Given the description of an element on the screen output the (x, y) to click on. 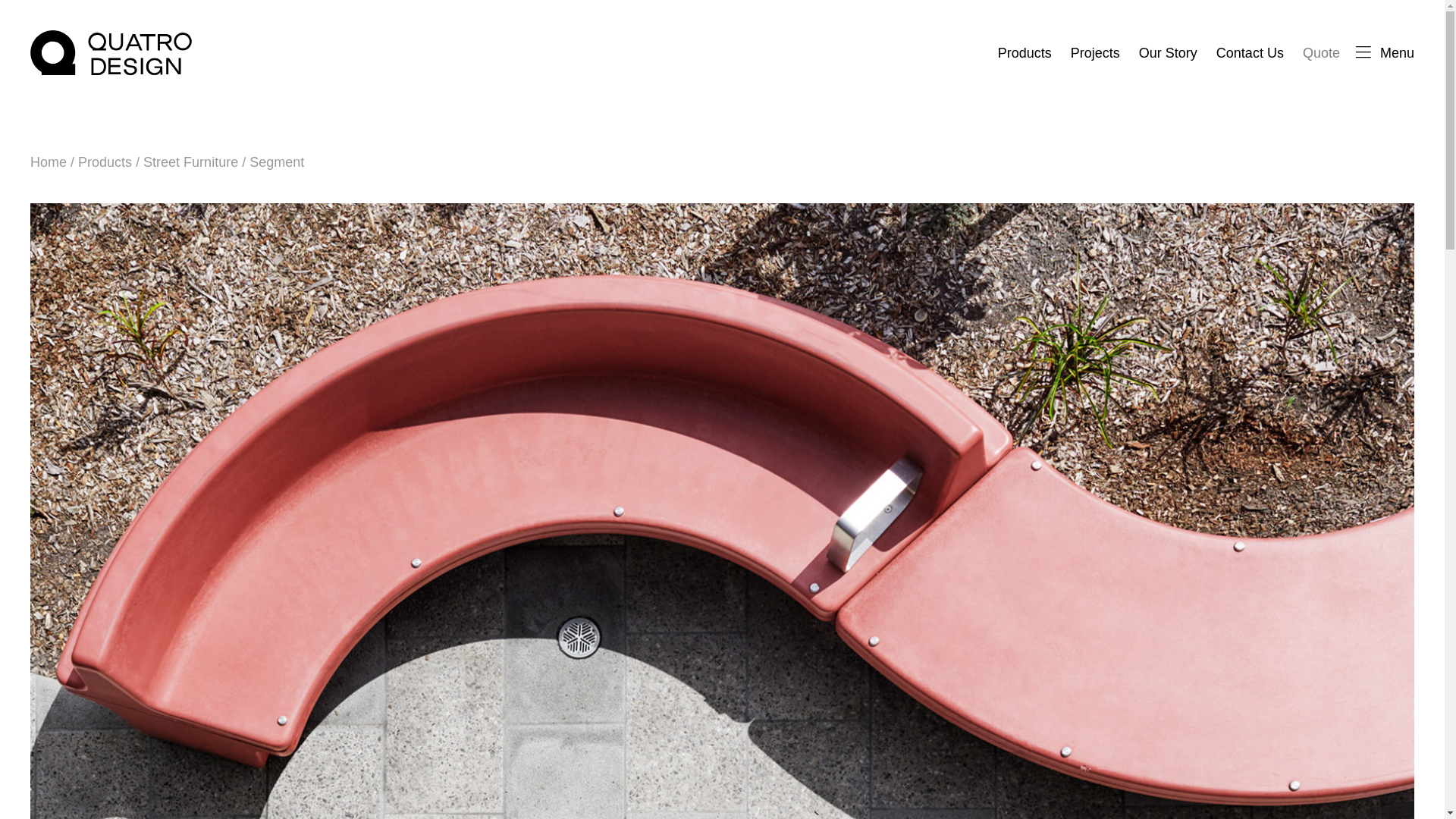
Projects (1094, 52)
Our Story (1167, 52)
Products (1024, 52)
Contact Us (1249, 52)
Go to Quatro Design. (48, 161)
Quote (1321, 52)
Products (105, 161)
Go to Products. (105, 161)
Street Furniture (190, 161)
Home (48, 161)
Go to Street Furniture. (190, 161)
Menu (1384, 52)
